Given the description of an element on the screen output the (x, y) to click on. 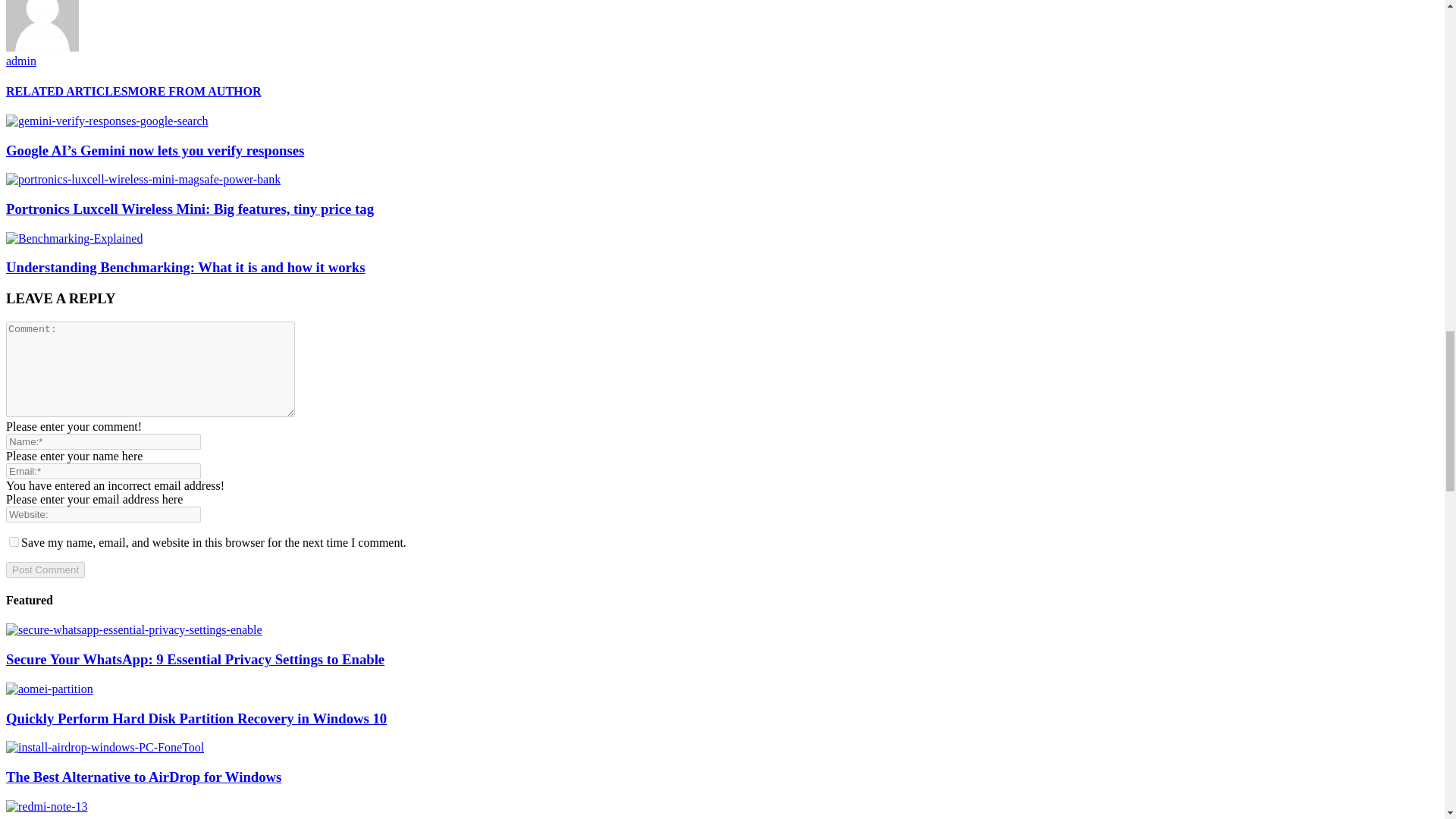
yes (13, 542)
Post Comment (44, 569)
